Given the description of an element on the screen output the (x, y) to click on. 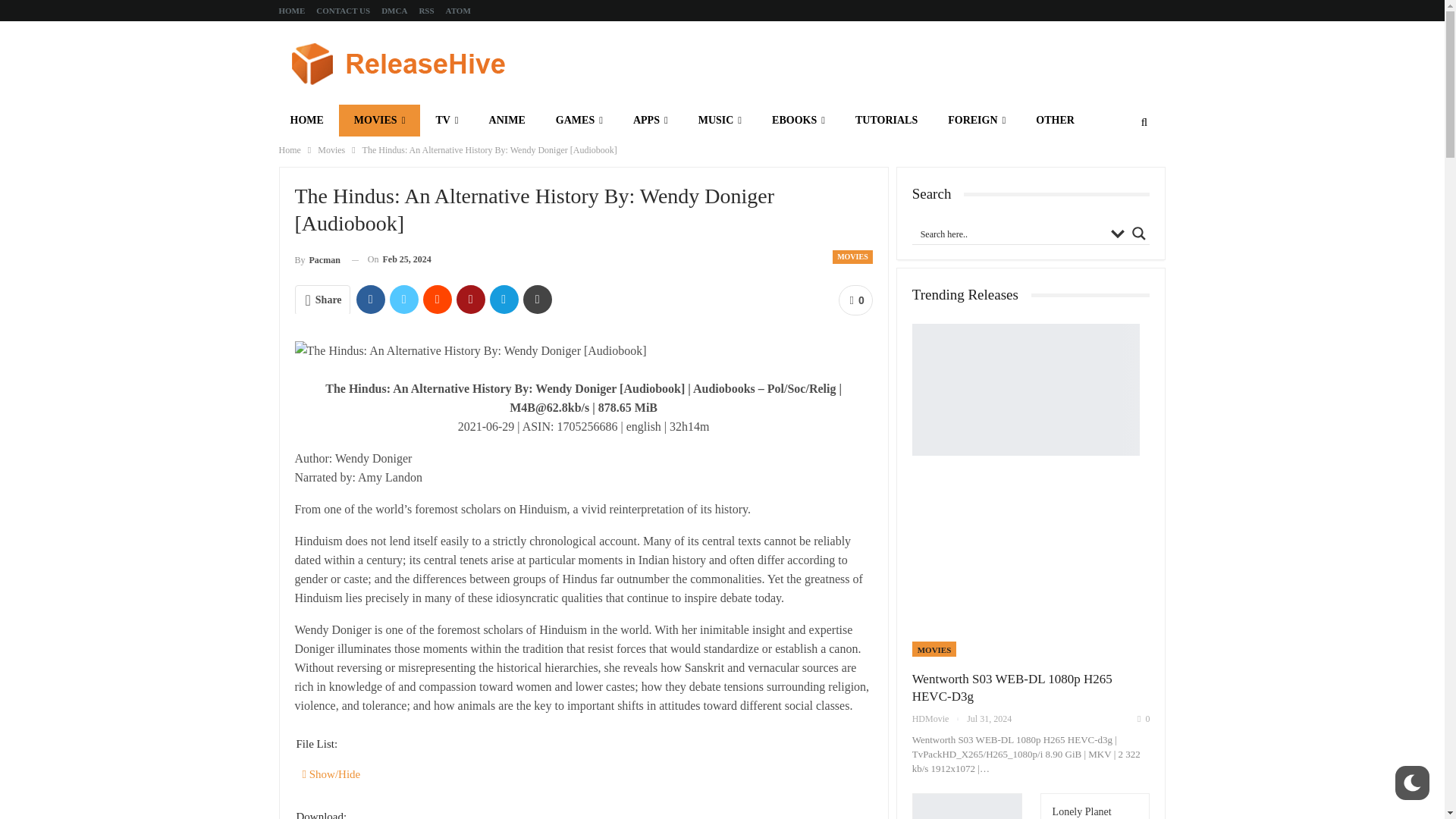
TUTORIALS (886, 120)
GAMES (578, 120)
MUSIC (719, 120)
TV (446, 120)
ATOM (457, 10)
Browse Author Articles (316, 259)
CONTACT US (342, 10)
EBOOKS (798, 120)
RSS (426, 10)
MOVIES (379, 120)
